Given the description of an element on the screen output the (x, y) to click on. 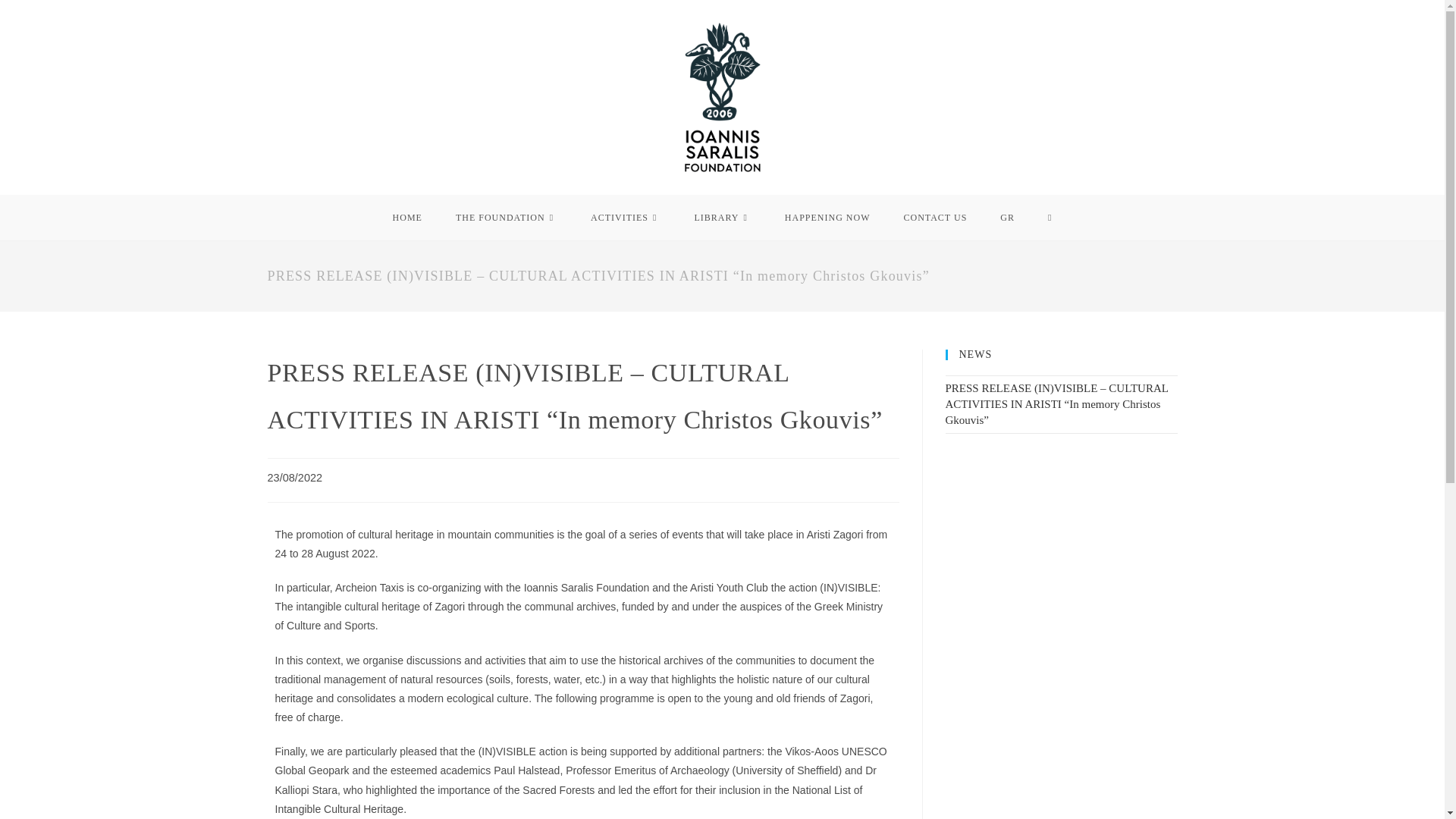
CONTACT US (935, 217)
GR (1007, 217)
HAPPENING NOW (827, 217)
THE FOUNDATION (506, 217)
LIBRARY (722, 217)
GR (1007, 217)
ACTIVITIES (625, 217)
HOME (407, 217)
